Given the description of an element on the screen output the (x, y) to click on. 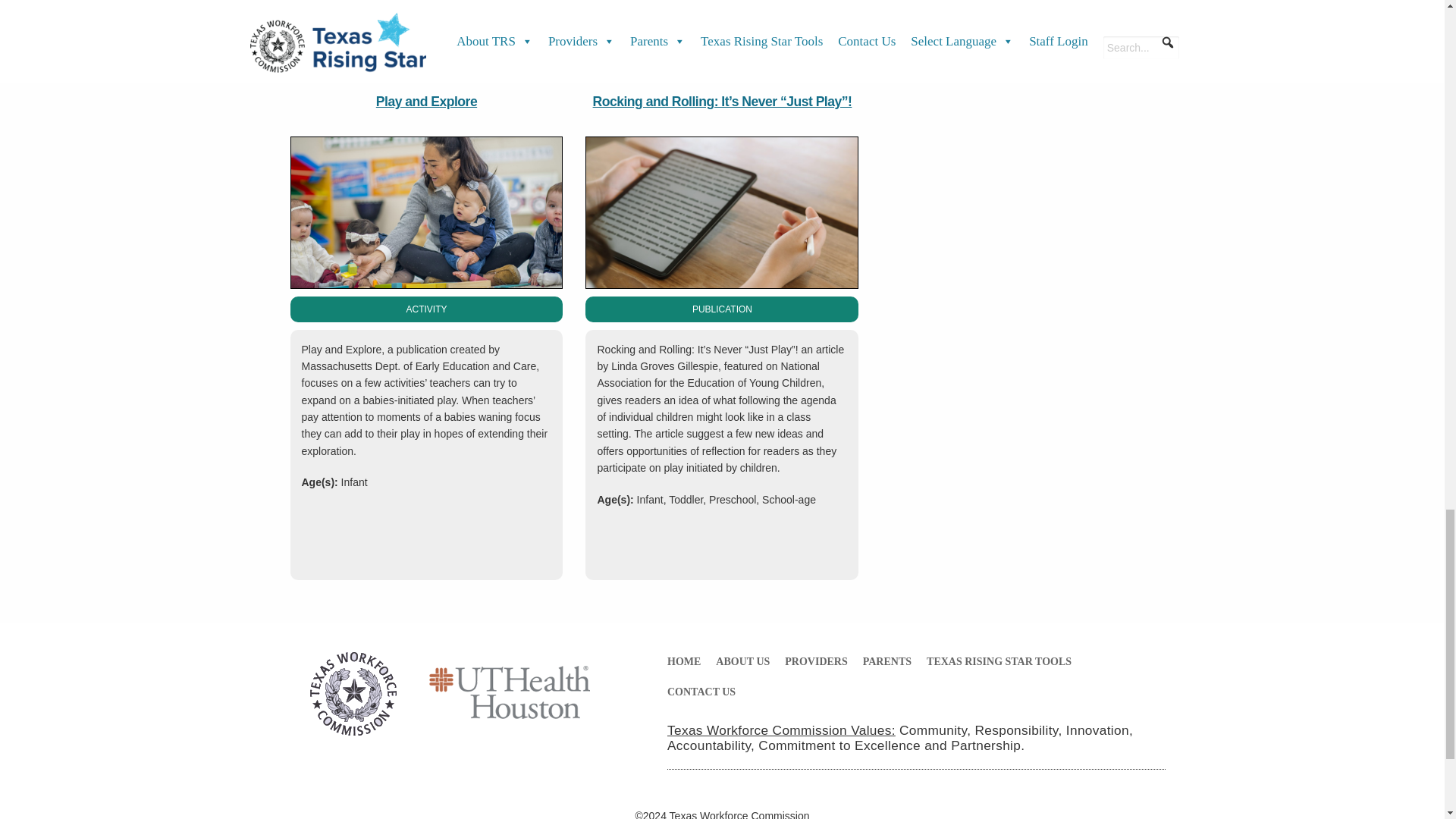
Texas Workforce Commission (352, 697)
The University of Texas Health Science Center (507, 697)
